Given the description of an element on the screen output the (x, y) to click on. 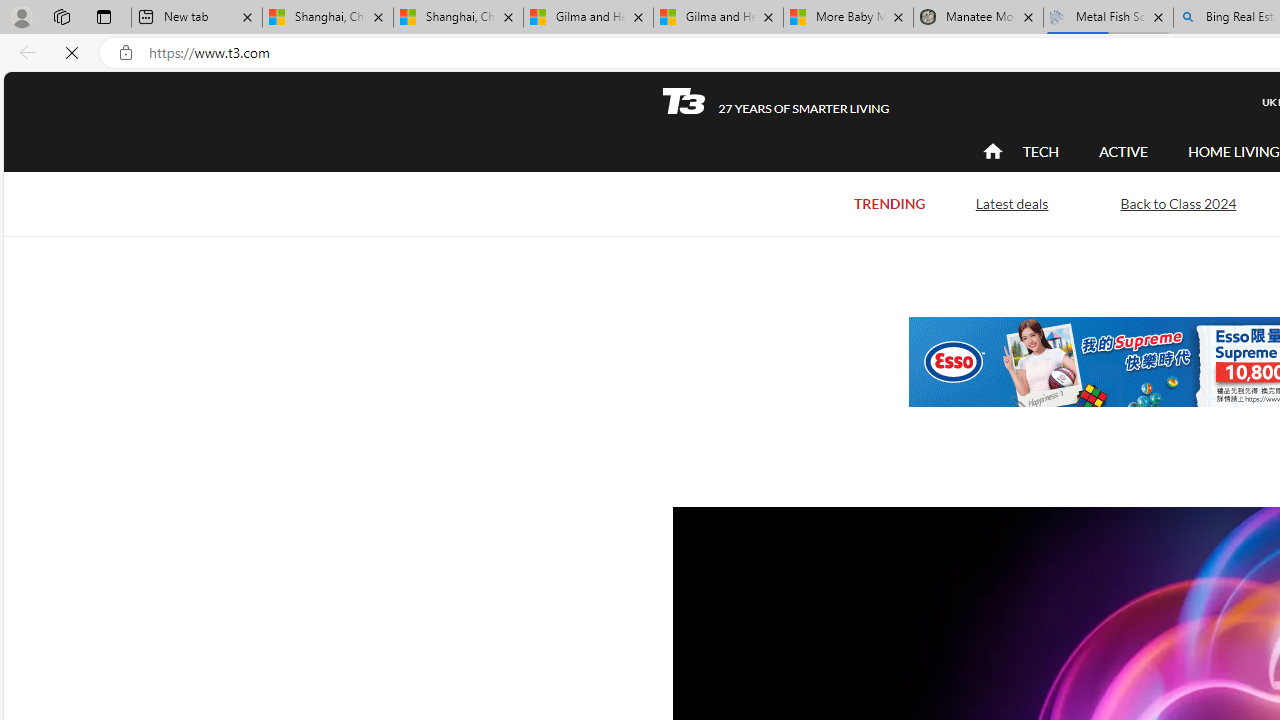
HOME LIVING (1233, 151)
TECH (1040, 151)
ACTIVE (1124, 151)
Manatee Mortality Statistics | FWC (978, 17)
Class: navigation__item (990, 151)
Latest deals (1011, 204)
Back to Class 2024 (1178, 204)
home (992, 152)
